Given the description of an element on the screen output the (x, y) to click on. 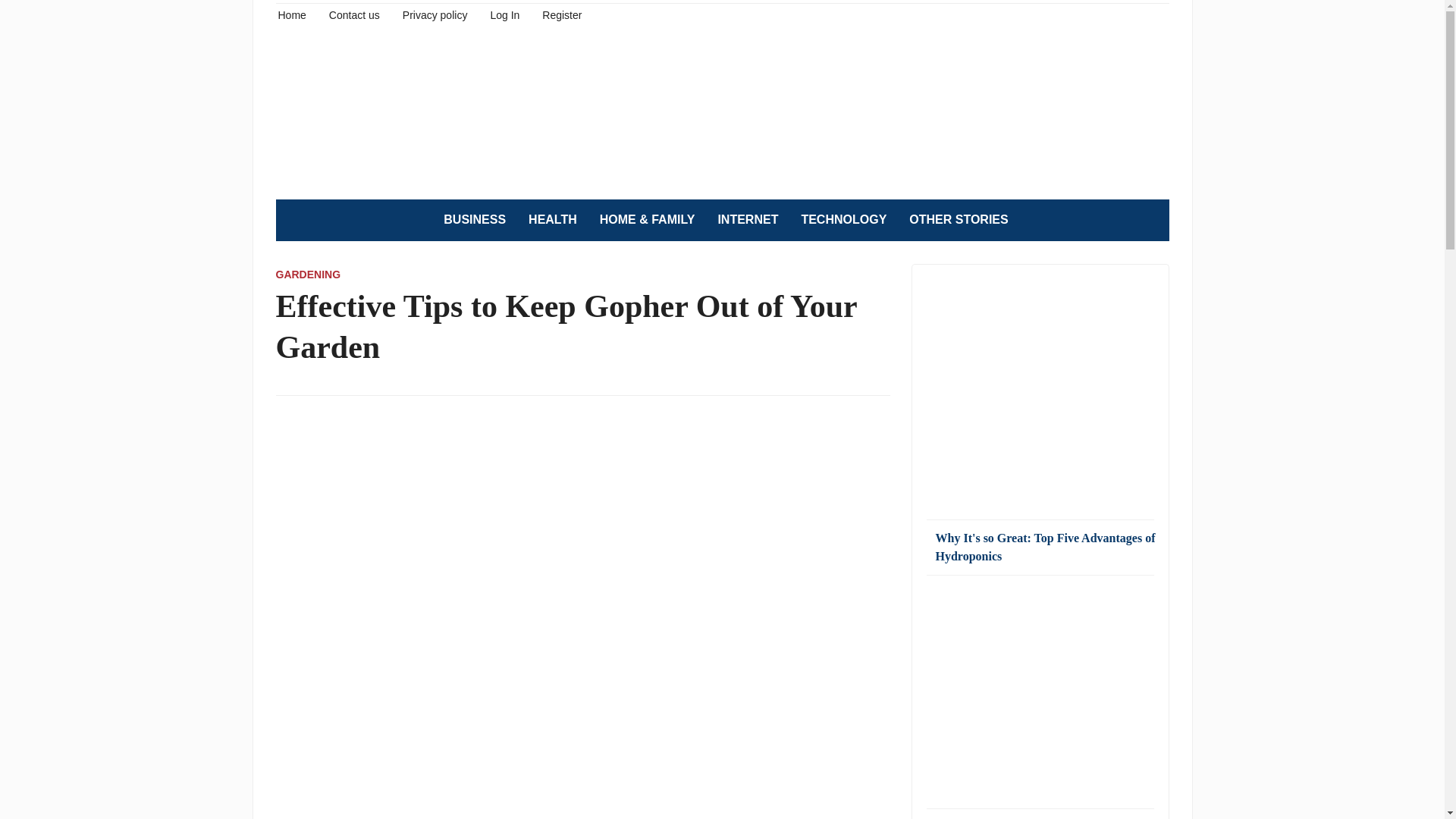
Register (560, 14)
Home (291, 14)
Privacy policy (435, 14)
Search (1149, 219)
Log In (504, 14)
Contact us (354, 14)
